Given the description of an element on the screen output the (x, y) to click on. 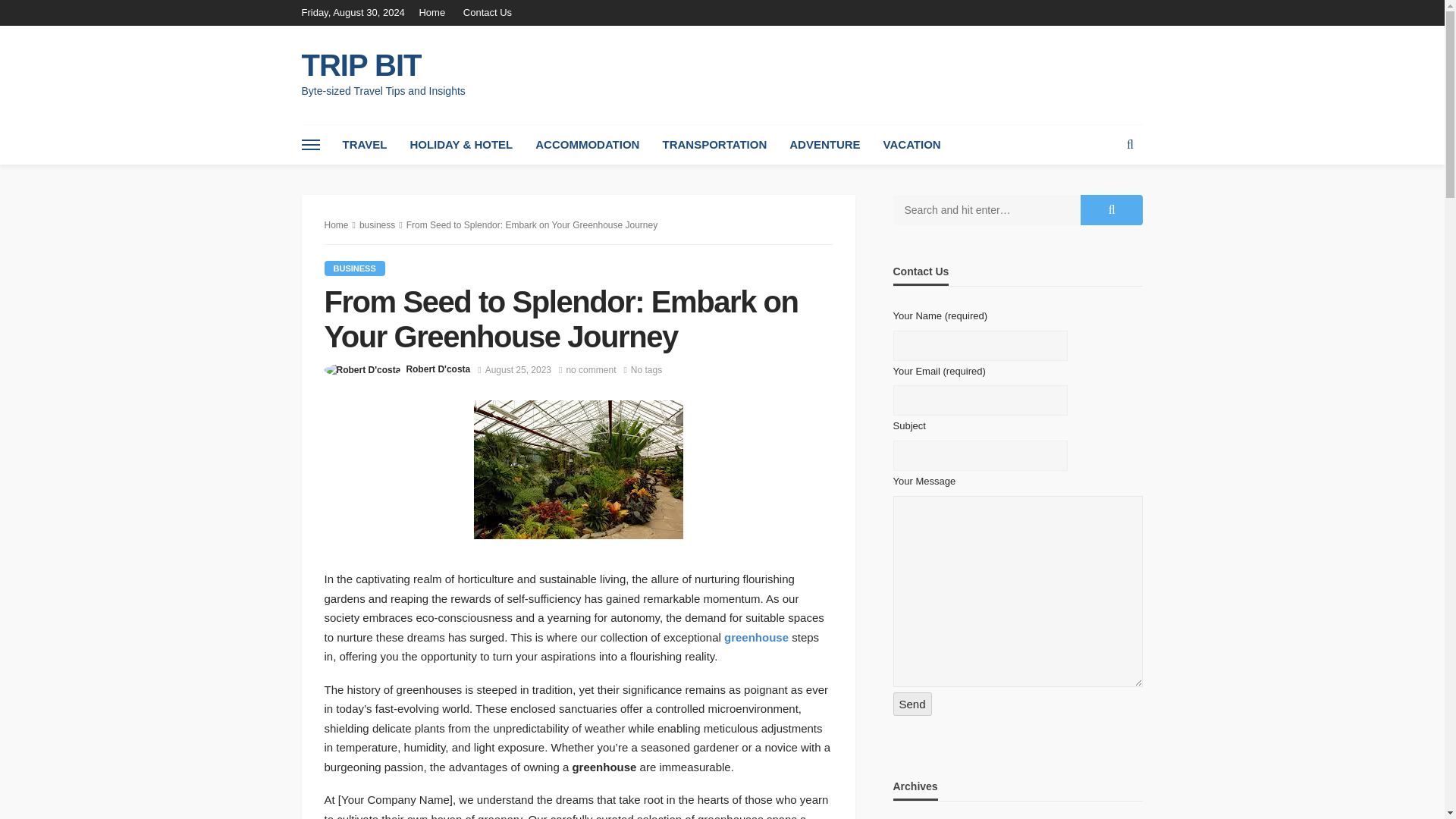
business (354, 268)
From Seed to Splendor: Embark on Your Greenhouse Journey (590, 369)
Send (912, 704)
